Given the description of an element on the screen output the (x, y) to click on. 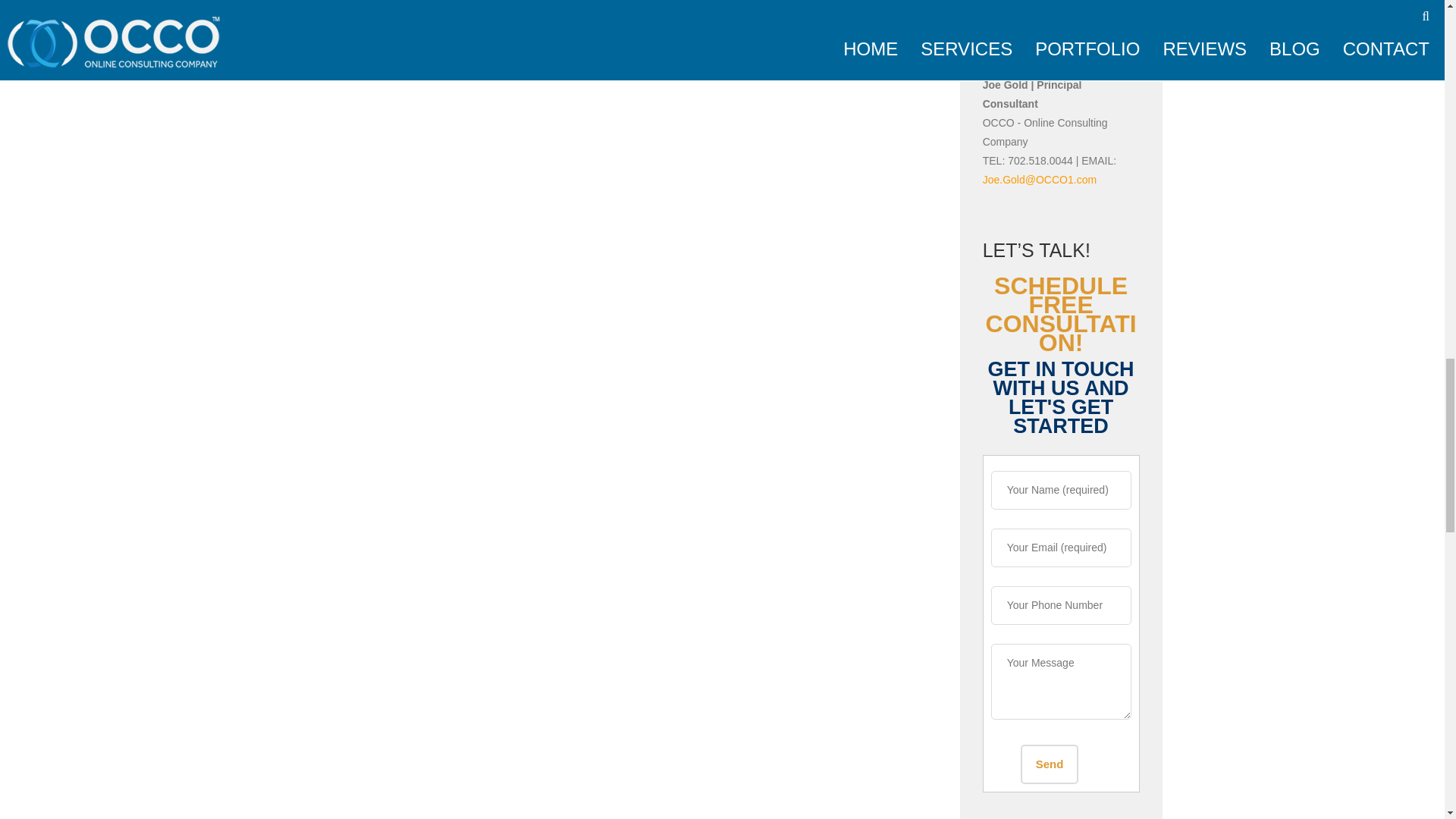
Send (1049, 763)
